Given the description of an element on the screen output the (x, y) to click on. 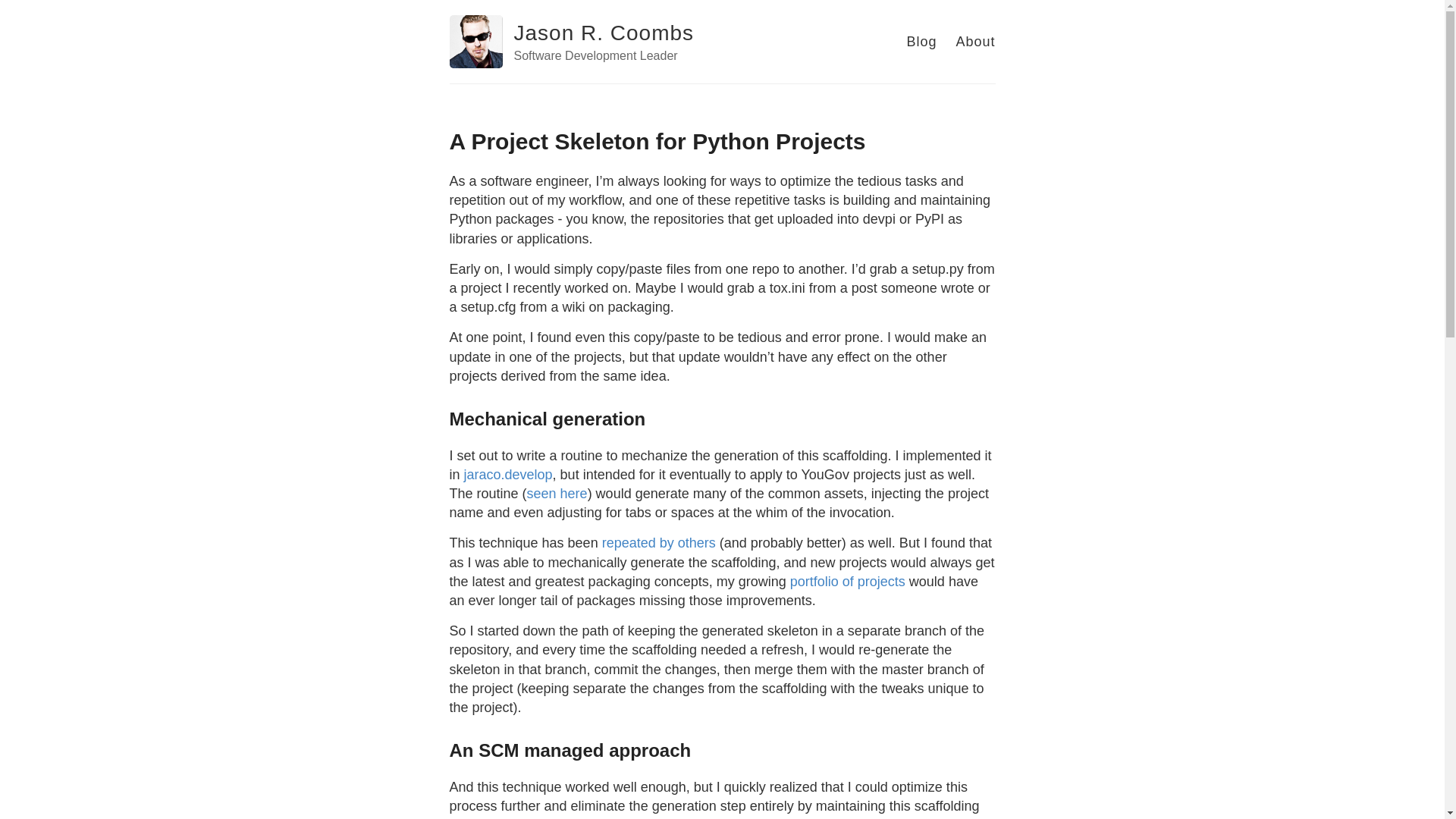
About (974, 41)
jaraco.develop (508, 474)
repeated by others (659, 542)
seen here (557, 493)
Blog (920, 41)
Jason R. Coombs (603, 33)
portfolio of projects (847, 581)
